Given the description of an element on the screen output the (x, y) to click on. 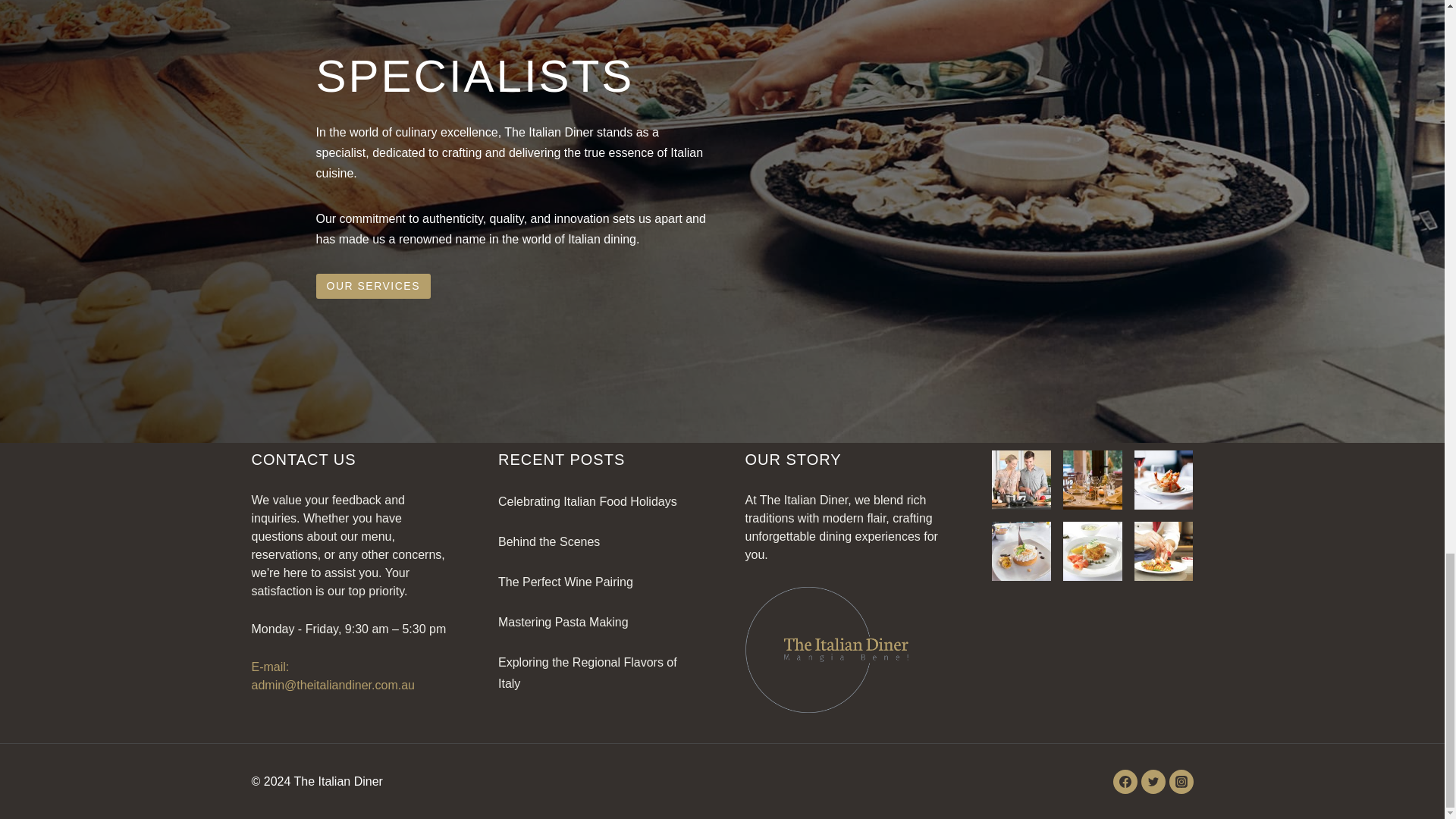
Mastering Pasta Making (562, 621)
Behind the Scenes (548, 541)
Exploring the Regional Flavors of Italy (587, 673)
The Perfect Wine Pairing (565, 581)
Celebrating Italian Food Holidays (587, 501)
